Given the description of an element on the screen output the (x, y) to click on. 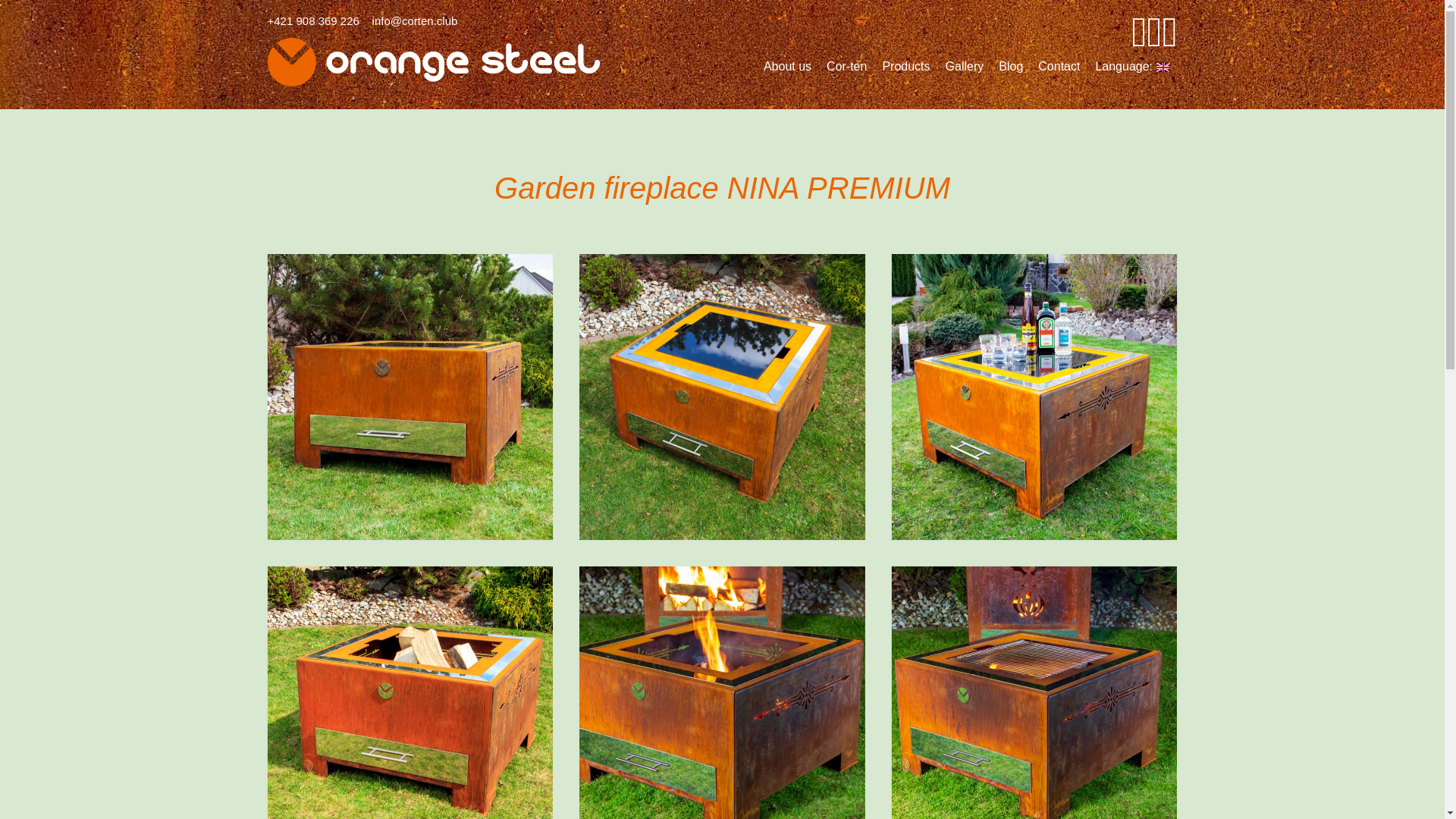
Products (906, 66)
Products (906, 66)
Cor-ten (846, 66)
About us (786, 66)
Cor-ten (846, 66)
About us (786, 66)
